Given the description of an element on the screen output the (x, y) to click on. 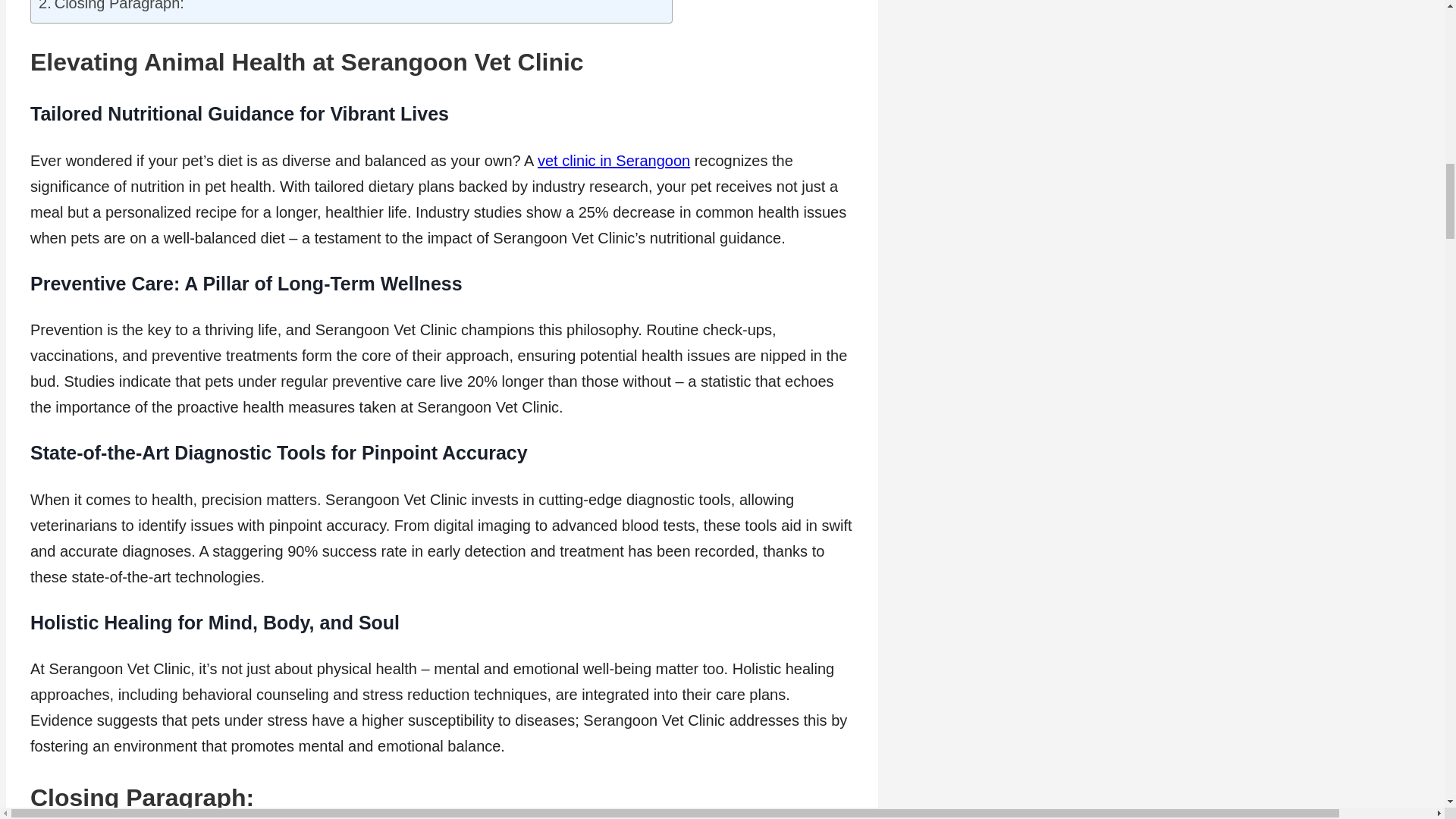
Closing Paragraph: (111, 7)
